Given the description of an element on the screen output the (x, y) to click on. 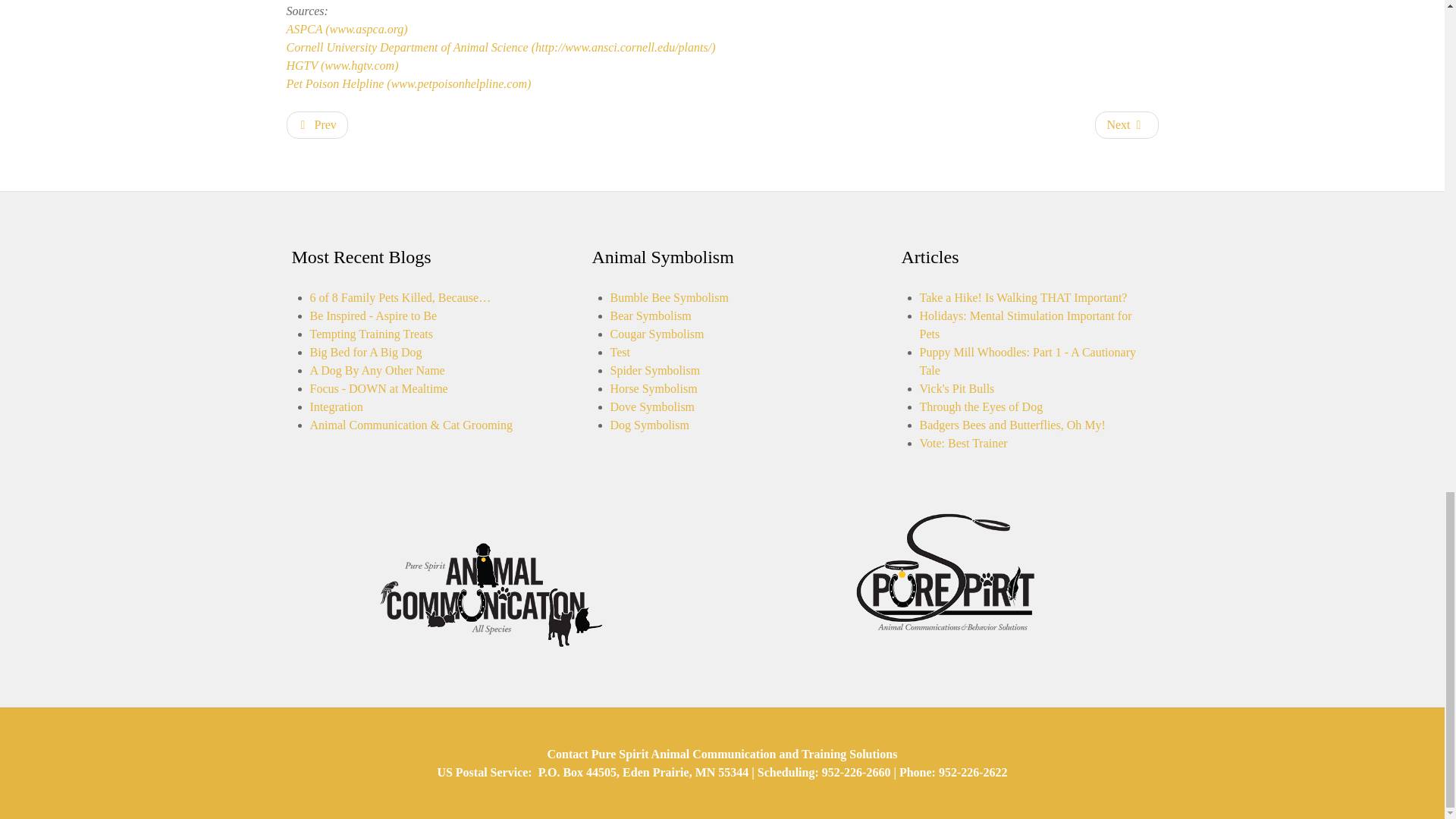
Through the Eyes of Dog (980, 406)
Dog Symbolism (649, 424)
Focus - DOWN at Mealtime (377, 388)
Take a Hike! Is Walking THAT Important? (1022, 297)
Next (1125, 124)
A Dog By Any Other Name (376, 369)
Holidays: Mental Stimulation Important for Pets (1024, 324)
Bumble Bee Symbolism (669, 297)
Big Bed for A Big Dog (365, 351)
Pure-Spirit (944, 573)
Spider Symbolism (655, 369)
Tempting Training Treats (370, 333)
Integration (335, 406)
Puppy Mill Whoodles: Part 1 - A Cautionary Tale (1026, 360)
Vick's Pit Bulls (956, 388)
